Given the description of an element on the screen output the (x, y) to click on. 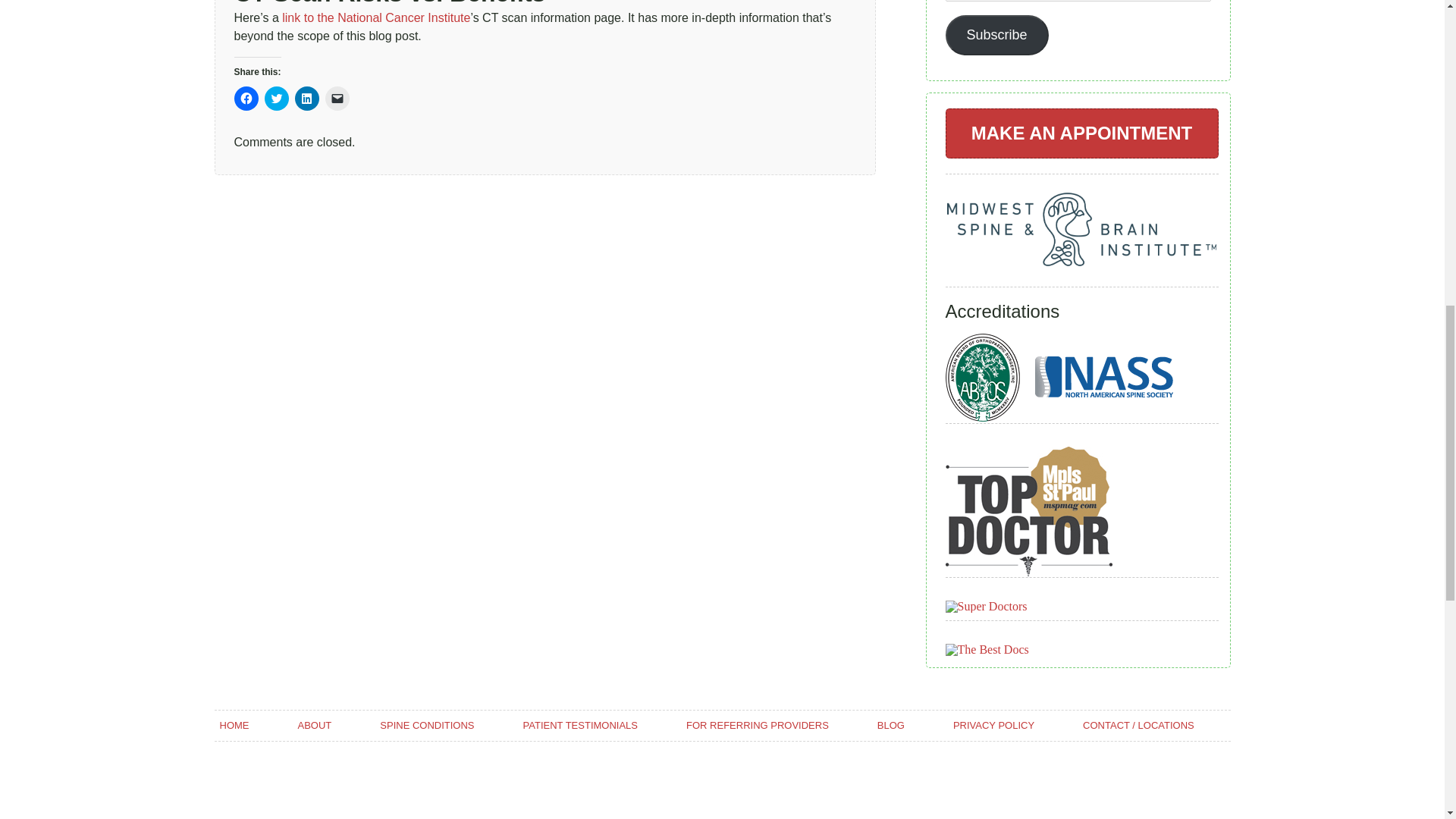
Click to share on Twitter (275, 98)
Click to share on LinkedIn (306, 98)
Click to share on Facebook (244, 98)
Click to email a link to a friend (336, 98)
